Given the description of an element on the screen output the (x, y) to click on. 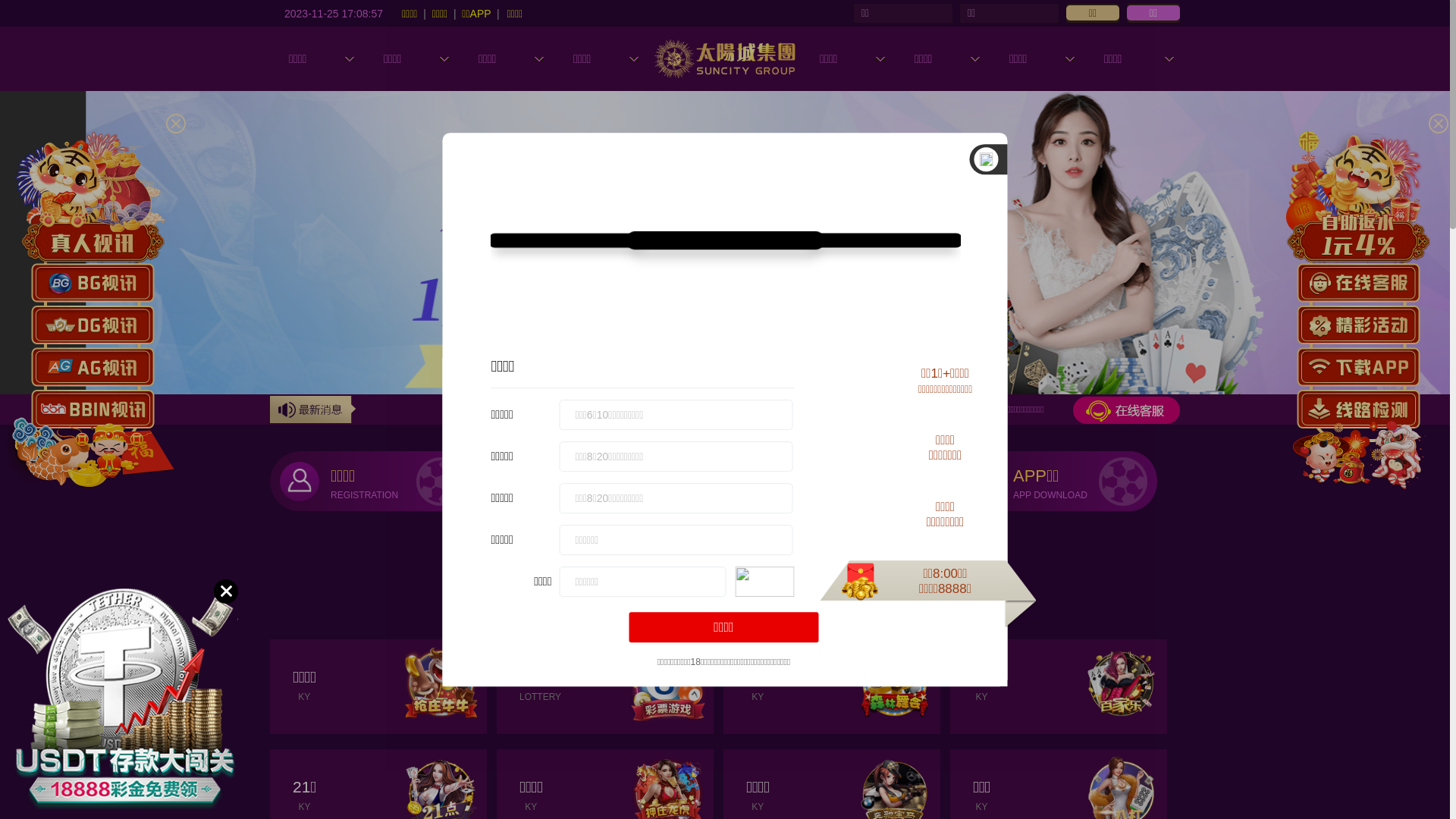
2023-11-25 17:08:55 Element type: text (333, 12)
